Given the description of an element on the screen output the (x, y) to click on. 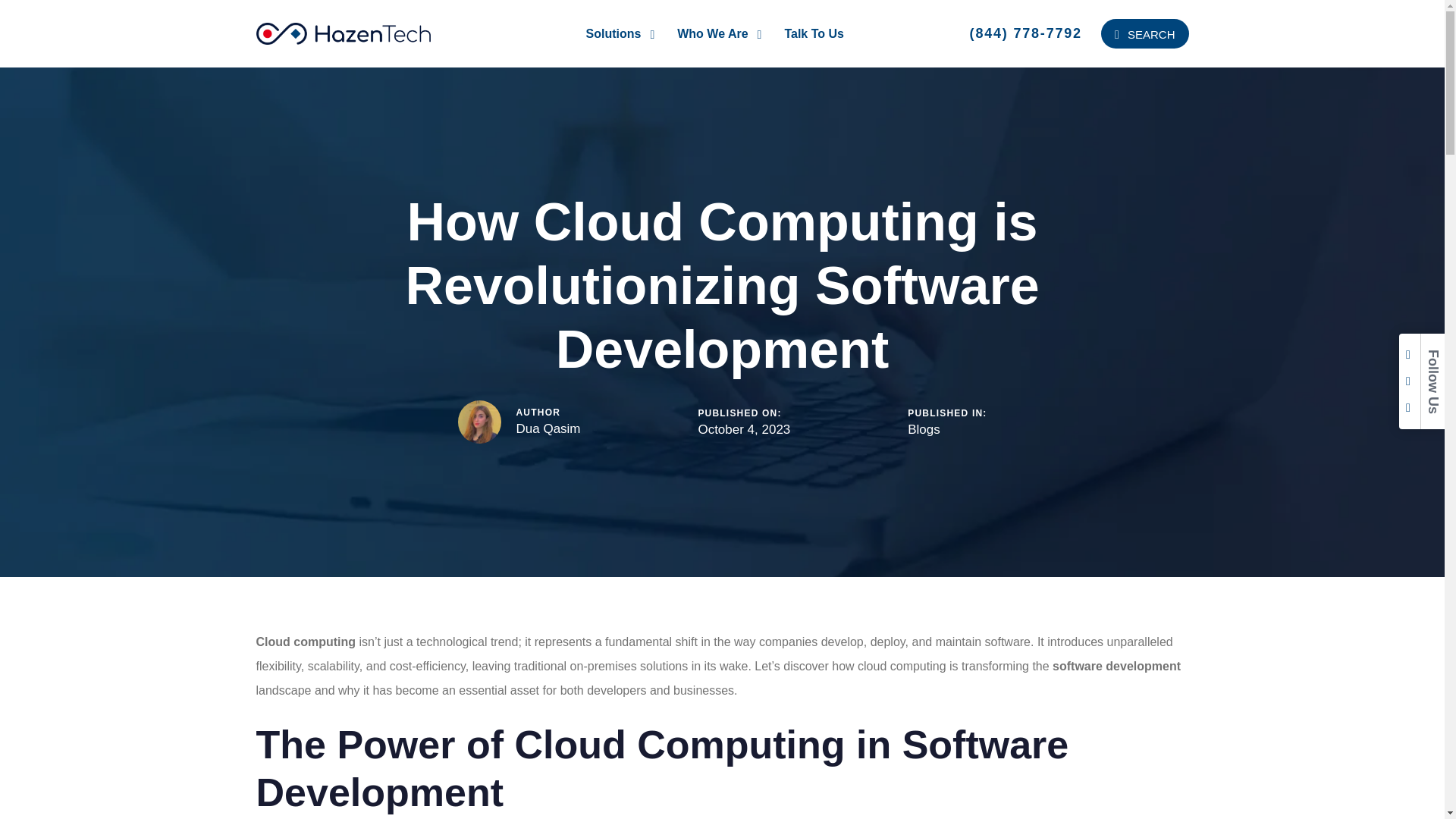
Talk To Us (814, 33)
Posts by Dua Qasim (547, 428)
Who We Are (719, 33)
Solutions (620, 33)
